Given the description of an element on the screen output the (x, y) to click on. 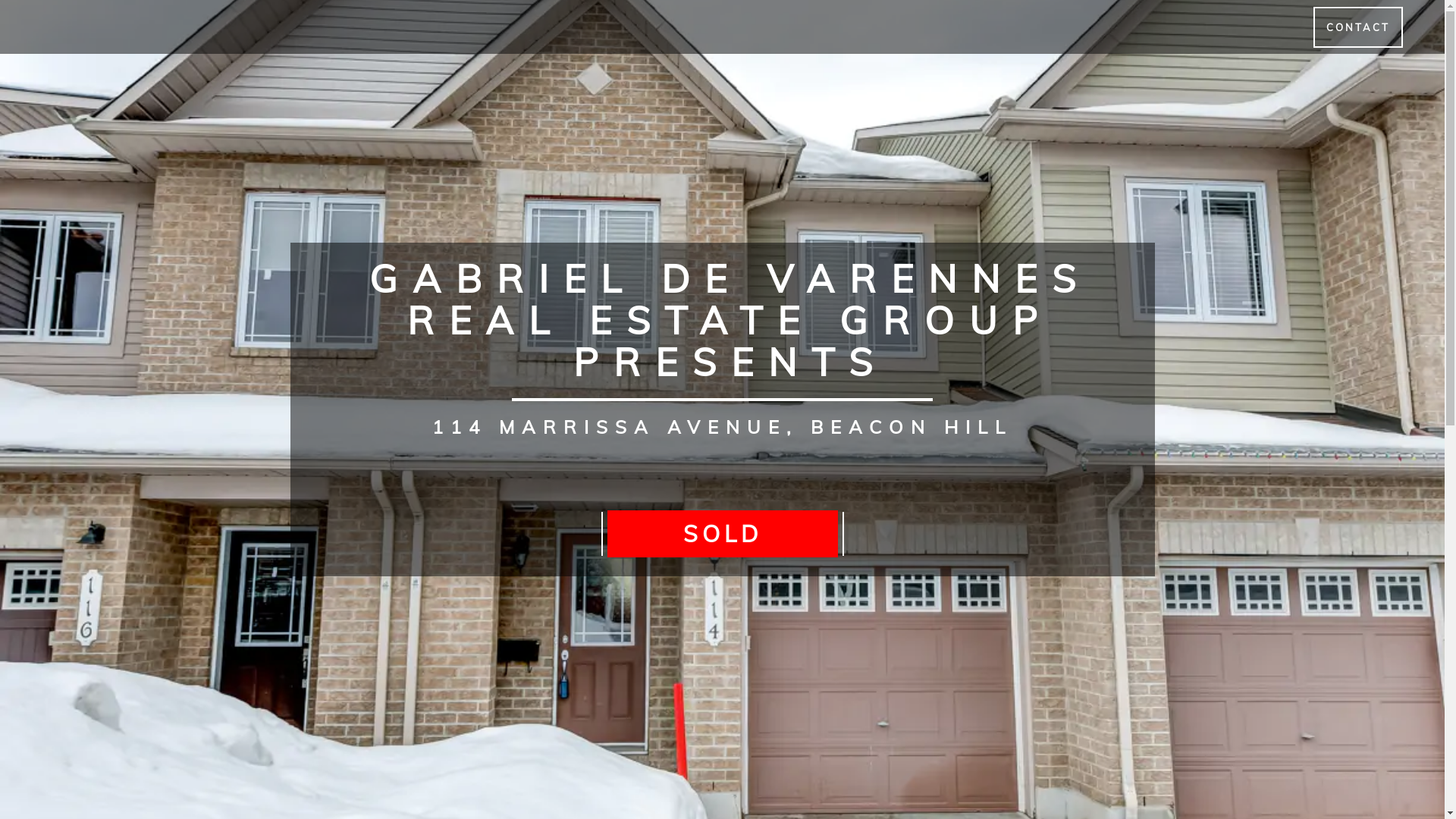
SOLD Element type: text (721, 533)
CONTACT Element type: text (1357, 26)
